Given the description of an element on the screen output the (x, y) to click on. 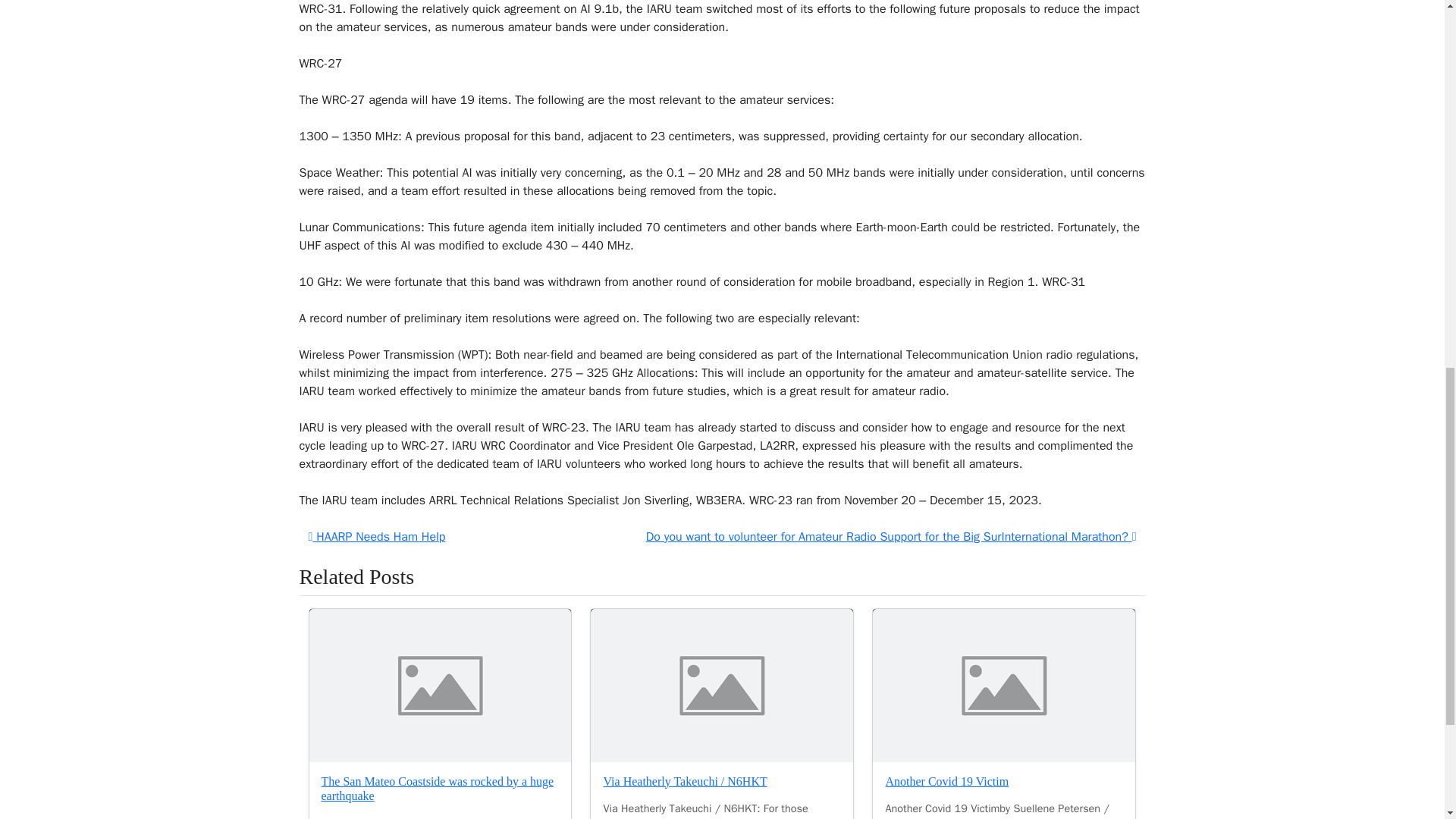
 HAARP Needs Ham Help (376, 536)
Another Covid 19 Victim (947, 780)
The San Mateo Coastside was rocked by a huge earthquake (437, 788)
The San Mateo Coastside was rocked by a huge earthquake (440, 685)
Another Covid 19 Victim (1003, 685)
